Given the description of an element on the screen output the (x, y) to click on. 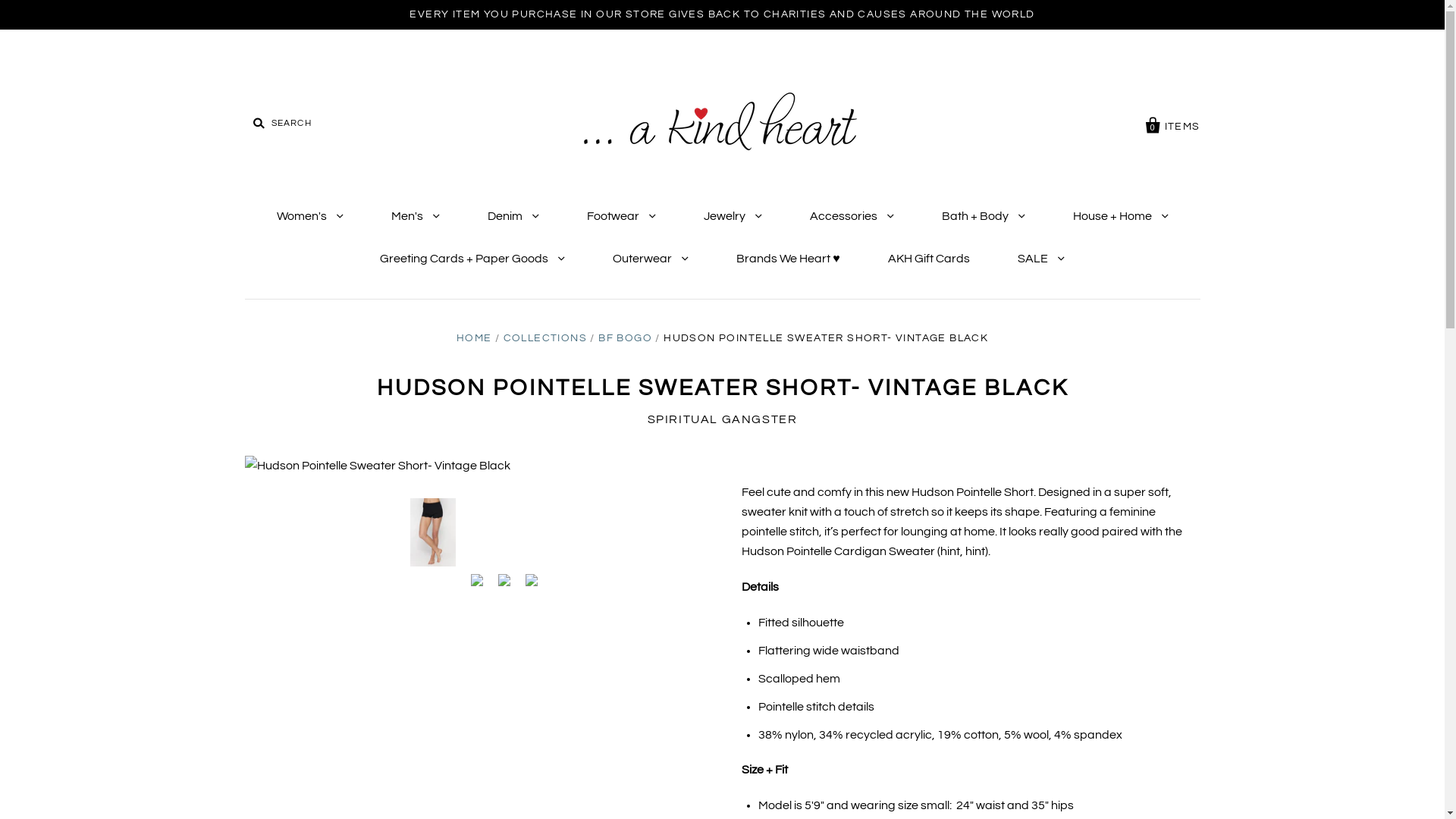
AKH Gift Cards Element type: text (928, 258)
SALE Element type: text (1040, 258)
Outerwear Element type: text (650, 258)
Denim Element type: text (512, 215)
Footwear Element type: text (621, 215)
Women's Element type: text (309, 215)
Greeting Cards + Paper Goods Element type: text (472, 258)
COLLECTIONS Element type: text (544, 337)
Men's Element type: text (415, 215)
SPIRITUAL GANGSTER Element type: text (722, 419)
House + Home Element type: text (1119, 215)
BF BOGO Element type: text (625, 337)
Jewelry Element type: text (732, 215)
0
ITEMS Element type: text (1172, 122)
Bath + Body Element type: text (983, 215)
HOME Element type: text (474, 337)
Accessories Element type: text (851, 215)
